Given the description of an element on the screen output the (x, y) to click on. 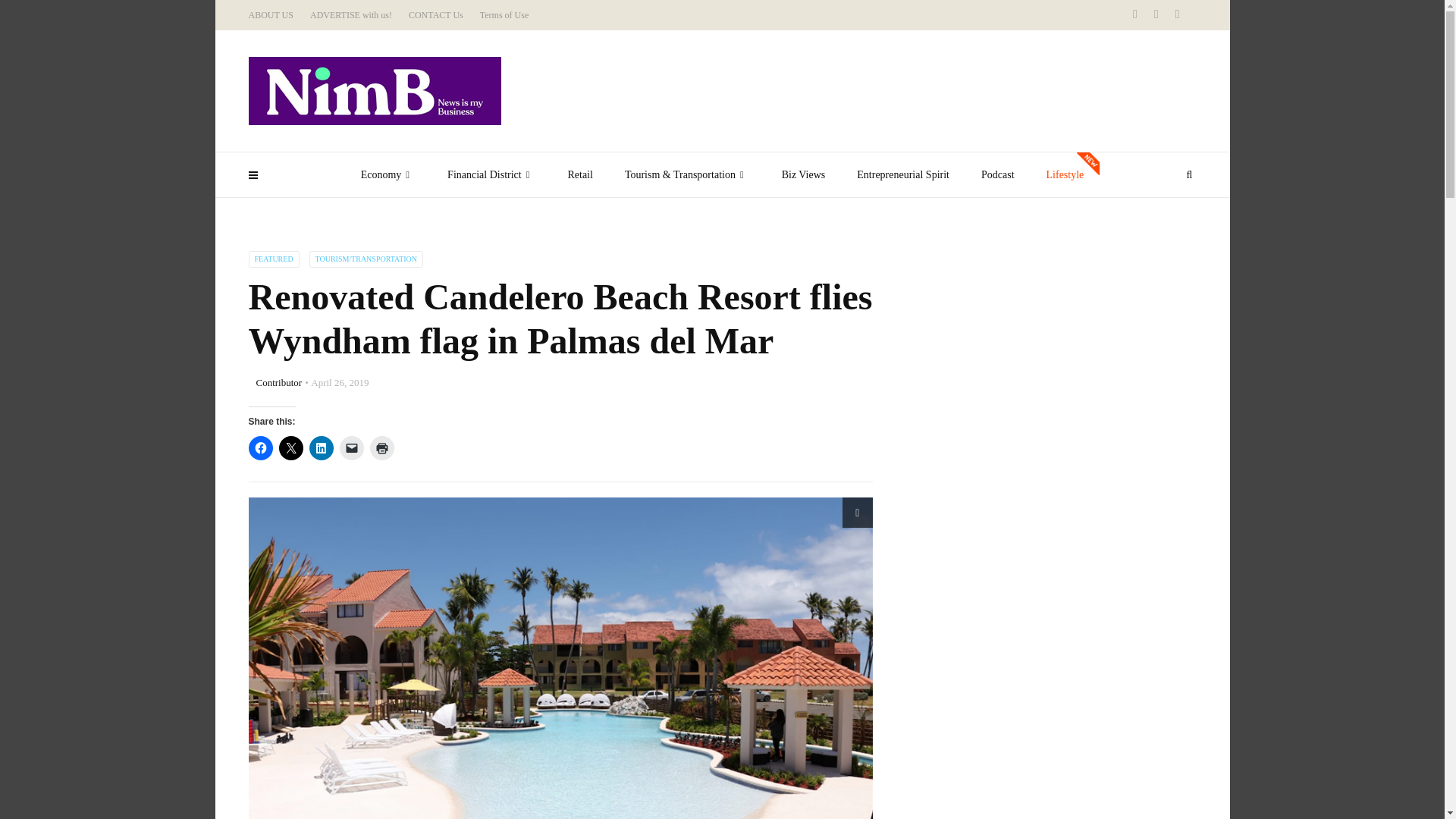
Financial District (490, 174)
Terms of Use (504, 15)
Click to print (381, 447)
Click to share on X (290, 447)
CONTACT Us (436, 15)
Click to email a link to a friend (351, 447)
Economy (387, 174)
3rd party ad content (1008, 345)
Lifestyle (1065, 174)
Click to share on LinkedIn (320, 447)
Biz Views (803, 174)
3rd party ad content (1008, 747)
Podcast (997, 174)
Click to share on Facebook (260, 447)
ABOUT US (271, 15)
